Given the description of an element on the screen output the (x, y) to click on. 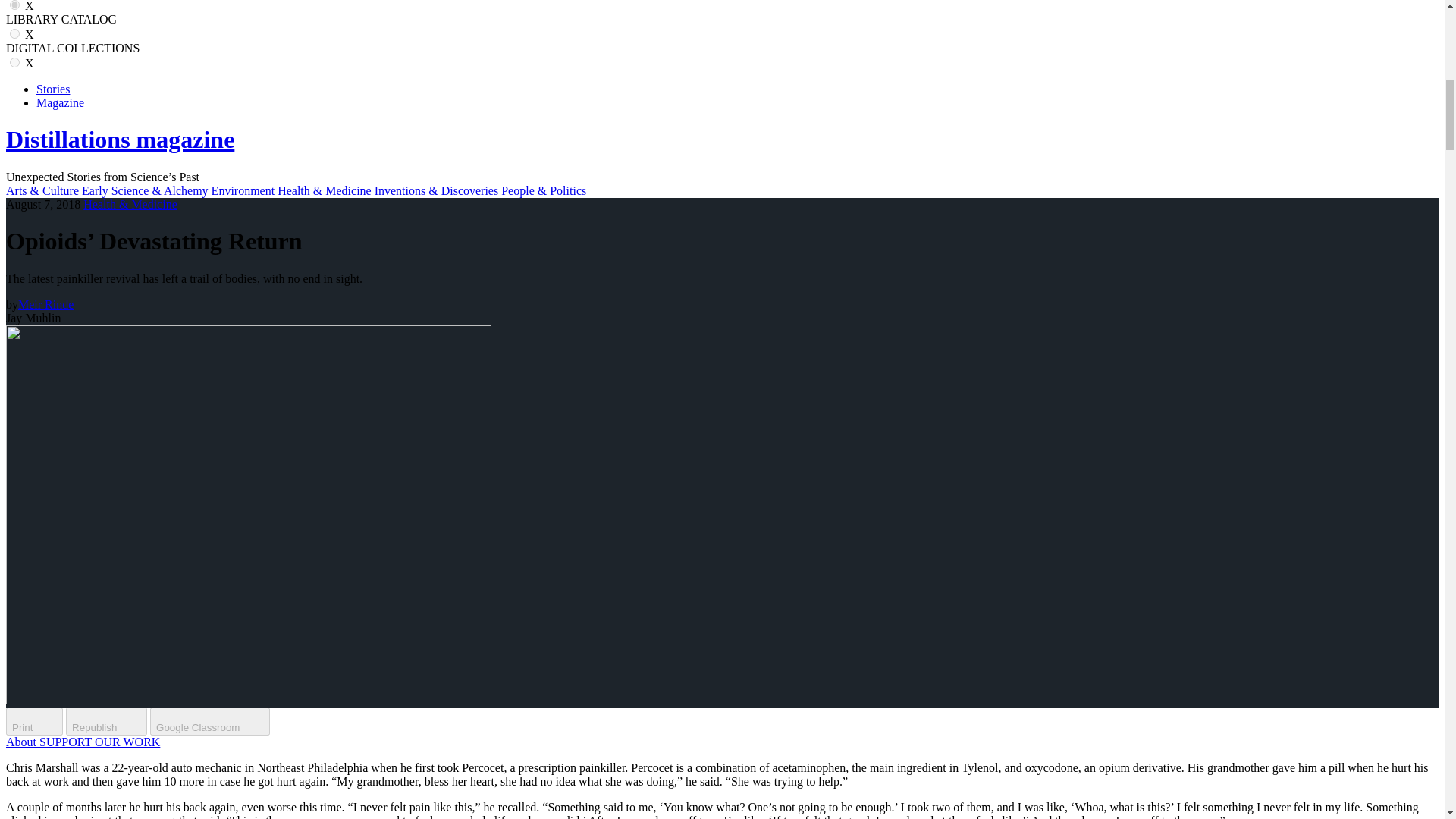
othmerlib (15, 33)
digital (15, 62)
othmerlib (15, 33)
digital (15, 62)
